Given the description of an element on the screen output the (x, y) to click on. 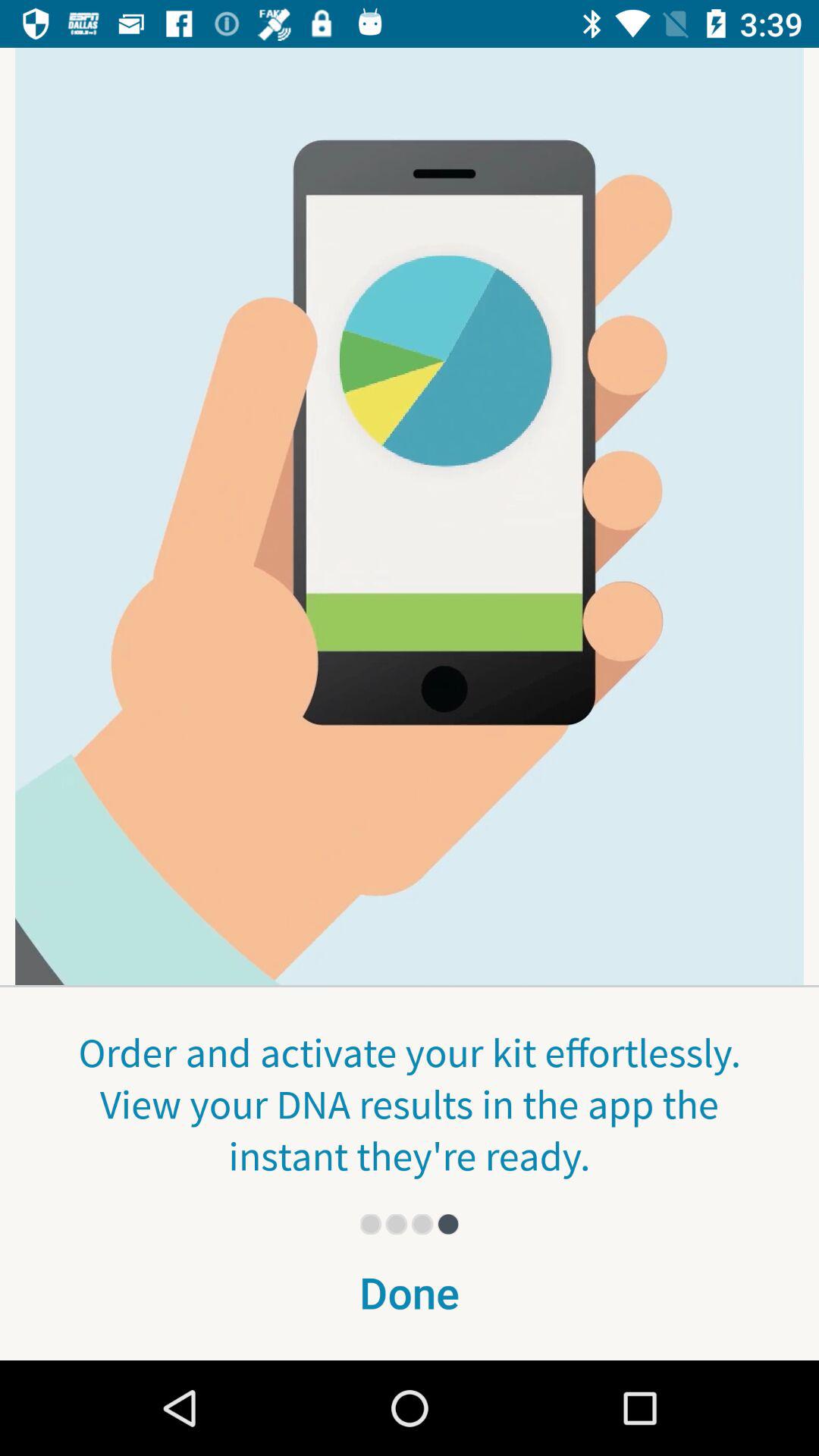
turn off done button (409, 1302)
